Given the description of an element on the screen output the (x, y) to click on. 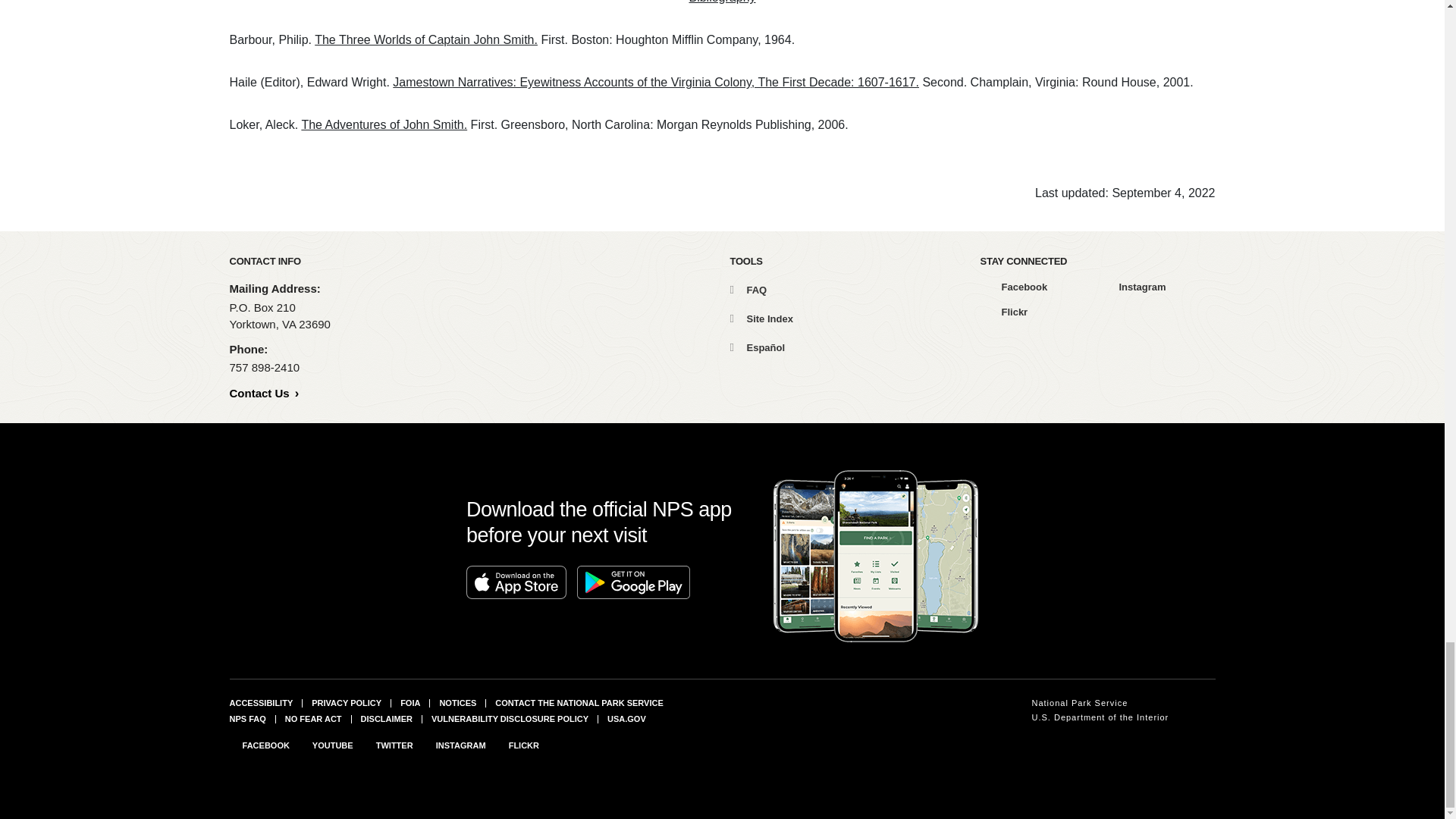
National Park Service frequently asked questions (246, 718)
